Given the description of an element on the screen output the (x, y) to click on. 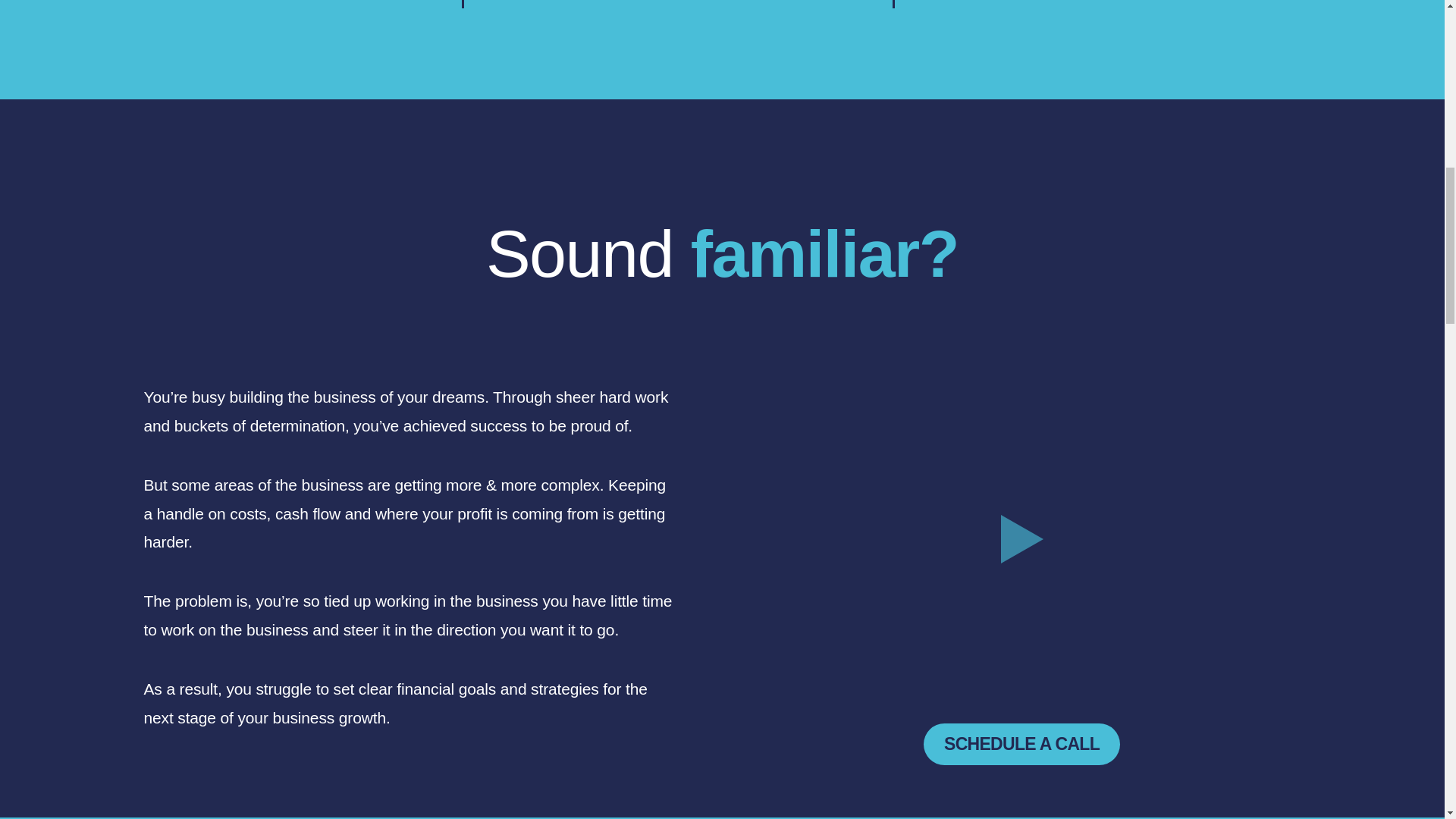
Schedule a Call (1021, 743)
SCHEDULE A CALL (1021, 743)
